Given the description of an element on the screen output the (x, y) to click on. 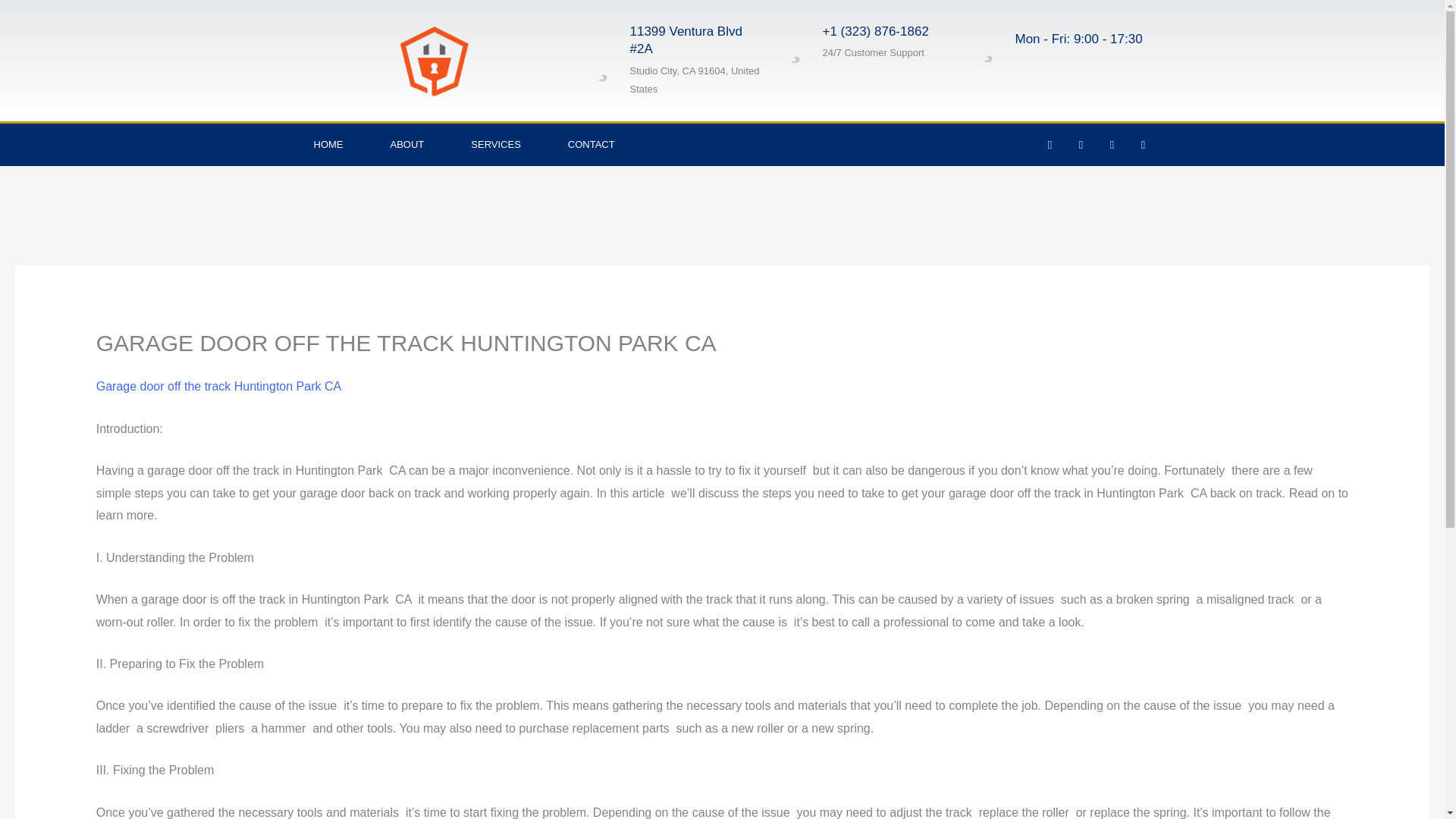
CONTACT (591, 144)
SERVICES (495, 144)
ABOUT (407, 144)
Garage door off the track Huntington Park CA (218, 386)
HOME (327, 144)
Facebook (1049, 144)
Twitter (1080, 144)
Github (1111, 144)
Bitbucket (1142, 144)
